Given the description of an element on the screen output the (x, y) to click on. 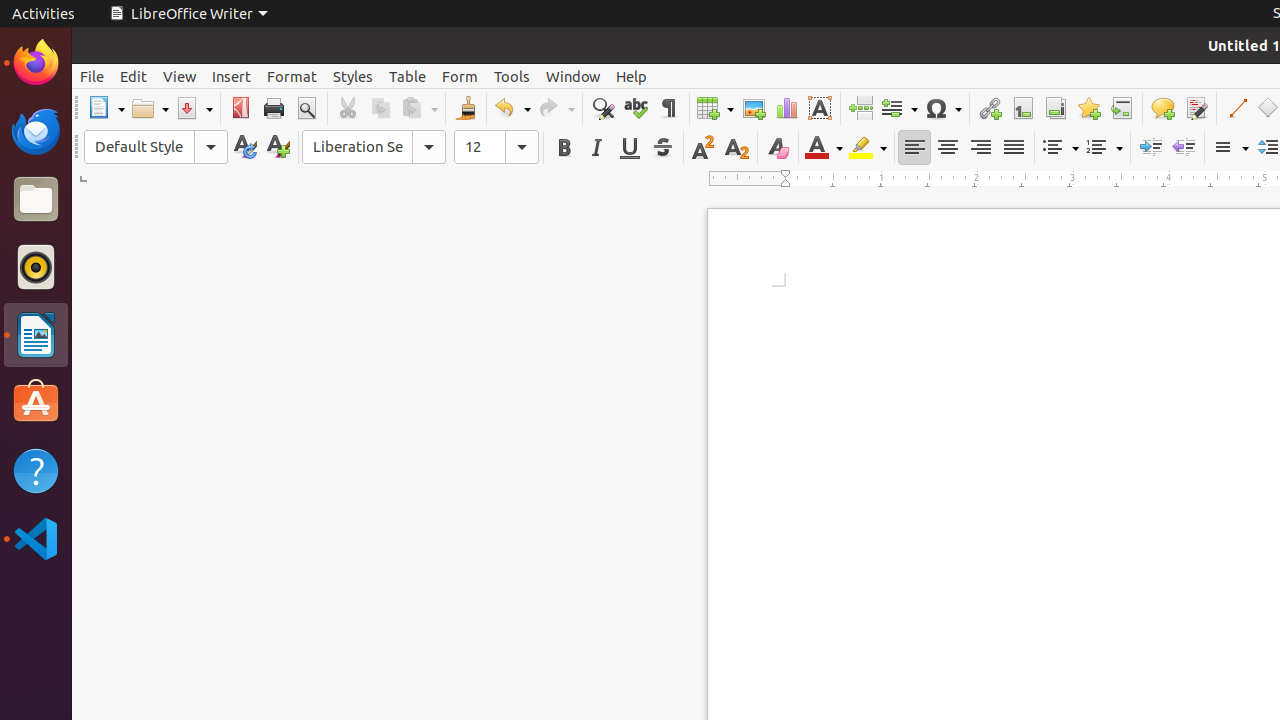
Font Color Element type: push-button (824, 147)
Track Changes Functions Element type: toggle-button (1195, 108)
Right Element type: toggle-button (980, 147)
Visual Studio Code Element type: push-button (36, 538)
Symbol Element type: push-button (943, 108)
